Given the description of an element on the screen output the (x, y) to click on. 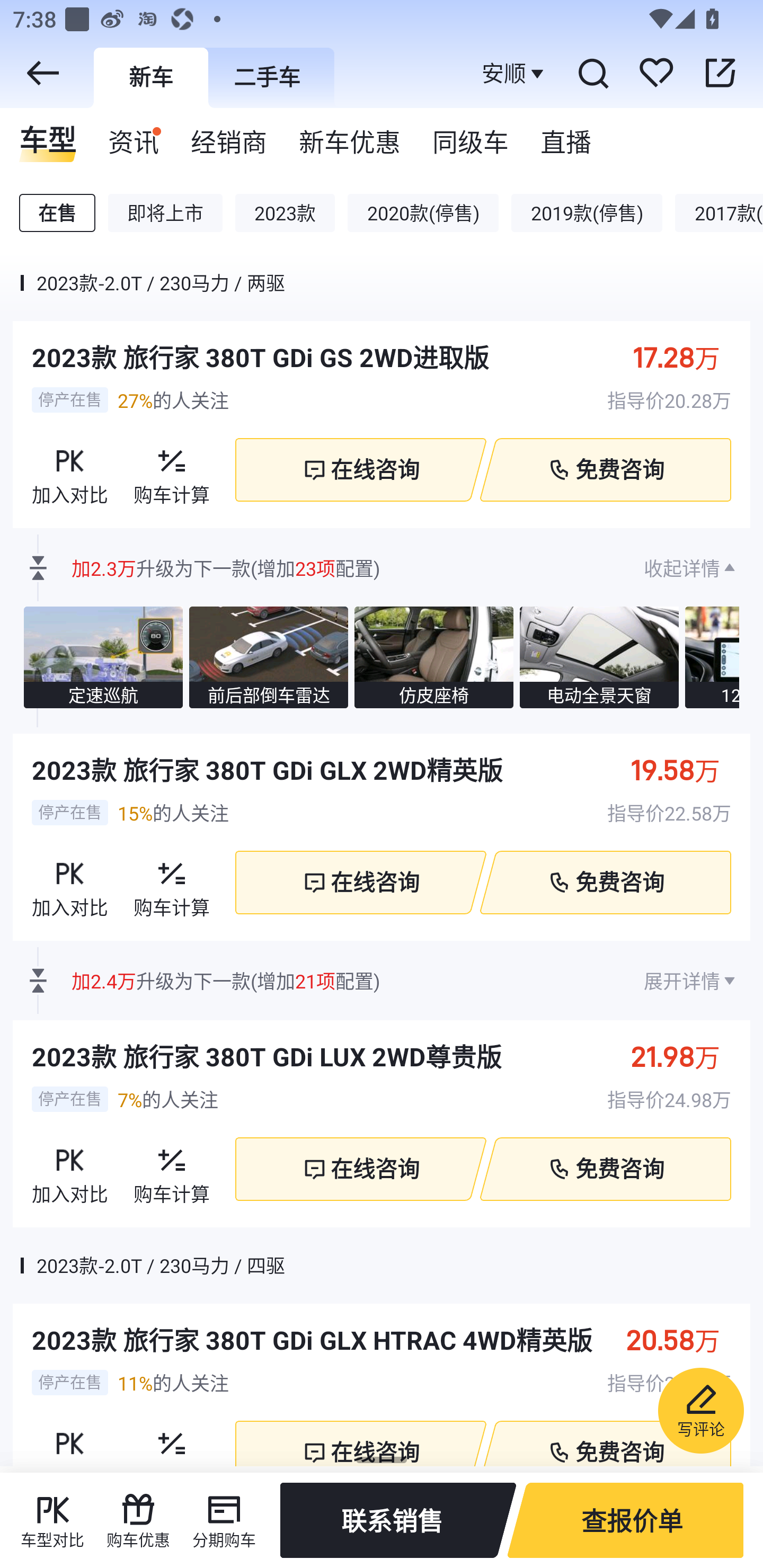
新车 (150, 77)
二手车 (266, 77)
 (42, 72)
 (592, 72)
 (720, 72)
安顺 (514, 73)
车型 (47, 135)
资讯 (133, 135)
经销商 (228, 135)
新车优惠 (349, 135)
同级车 (470, 135)
直播 (565, 135)
在售 (57, 213)
即将上市 (165, 213)
2023款 (284, 213)
2020款(停售) (422, 213)
2019款(停售) (586, 213)
17.28 万 (685, 357)
加入对比 (70, 470)
 购车计算 (171, 470)
在线咨询 (360, 469)
免费咨询 (604, 469)
定速巡航 (103, 657)
前后部倒车雷达 (268, 657)
仿皮座椅 (433, 657)
电动全景天窗 (599, 657)
19.58 万 (684, 769)
加入对比 (70, 882)
 购车计算 (171, 882)
在线咨询 (360, 882)
免费咨询 (604, 882)
21.98 万 (684, 1056)
加入对比 (70, 1169)
 购车计算 (171, 1169)
在线咨询 (360, 1168)
免费咨询 (604, 1168)
20.58 万 (682, 1340)
写评论 (700, 1410)
加入对比 (70, 1440)
 购车计算 (171, 1440)
在线咨询 (360, 1443)
免费咨询 (604, 1443)
车型对比 (52, 1520)
购车优惠 (138, 1520)
分期购车 (224, 1520)
联系销售 (398, 1519)
查报价单 (625, 1519)
